Given the description of an element on the screen output the (x, y) to click on. 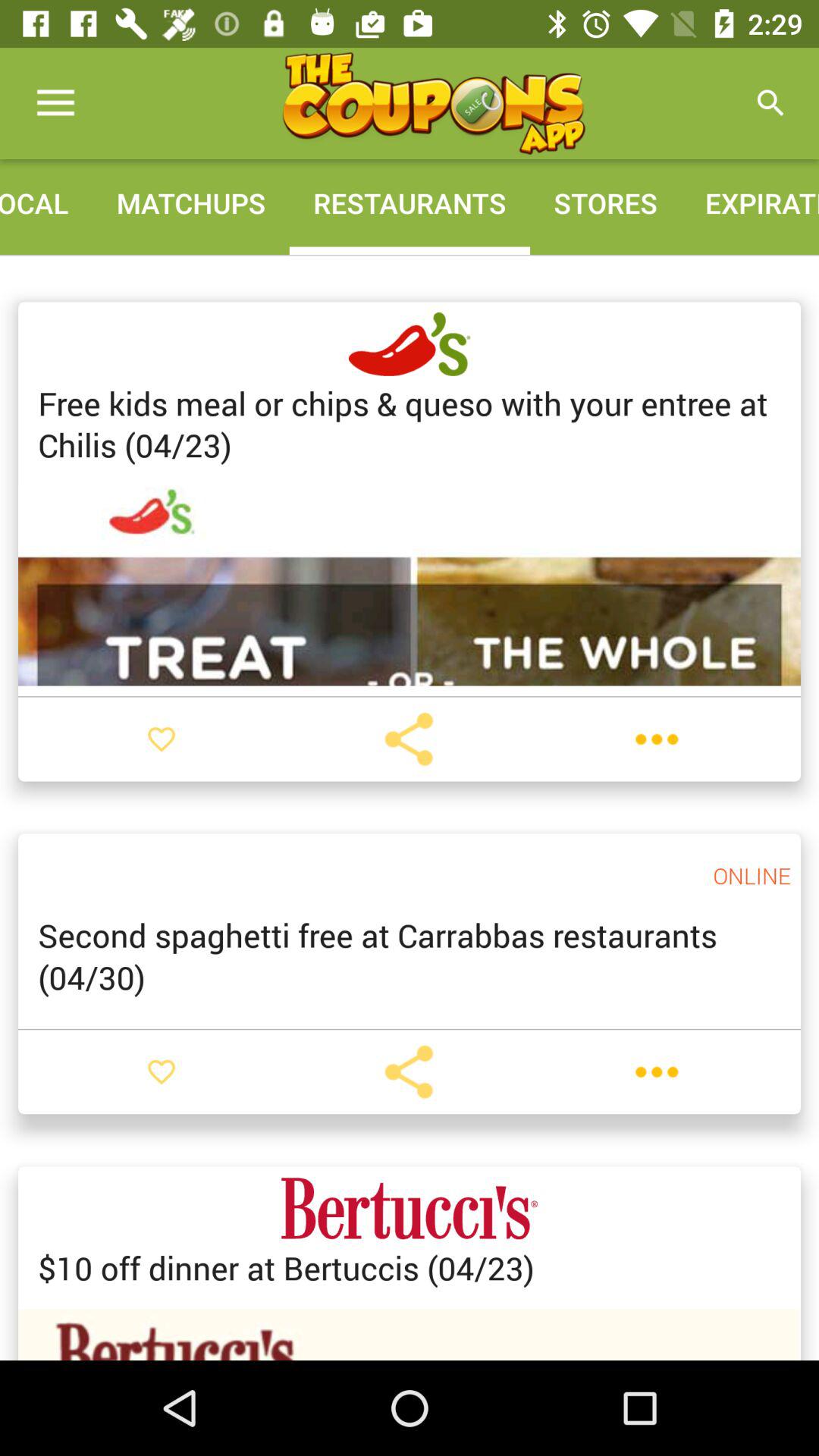
go to settings/options (656, 1071)
